Given the description of an element on the screen output the (x, y) to click on. 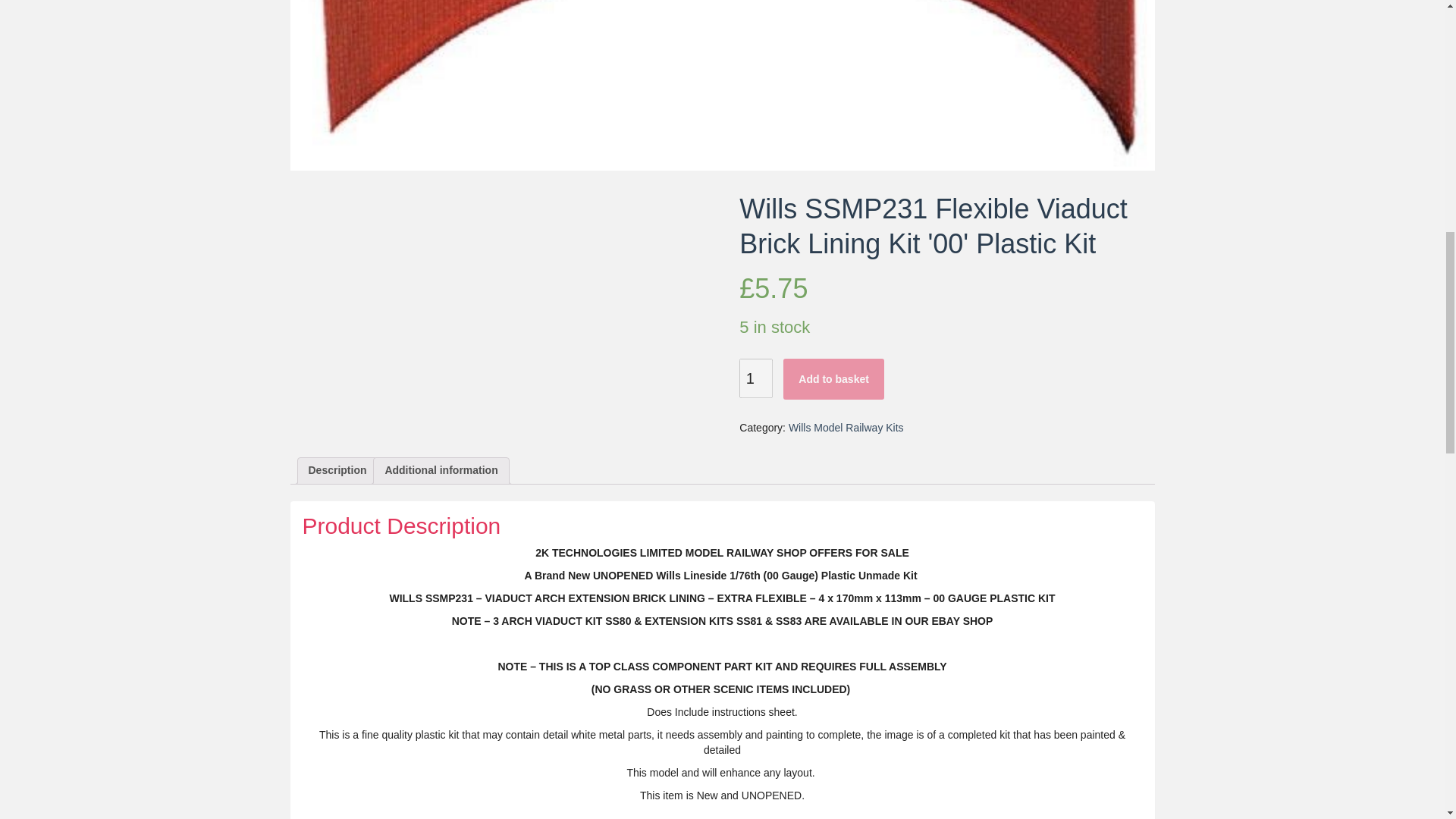
Add to basket (833, 378)
Additional information (440, 470)
Description (336, 470)
Wills Model Railway Kits (846, 427)
